Given the description of an element on the screen output the (x, y) to click on. 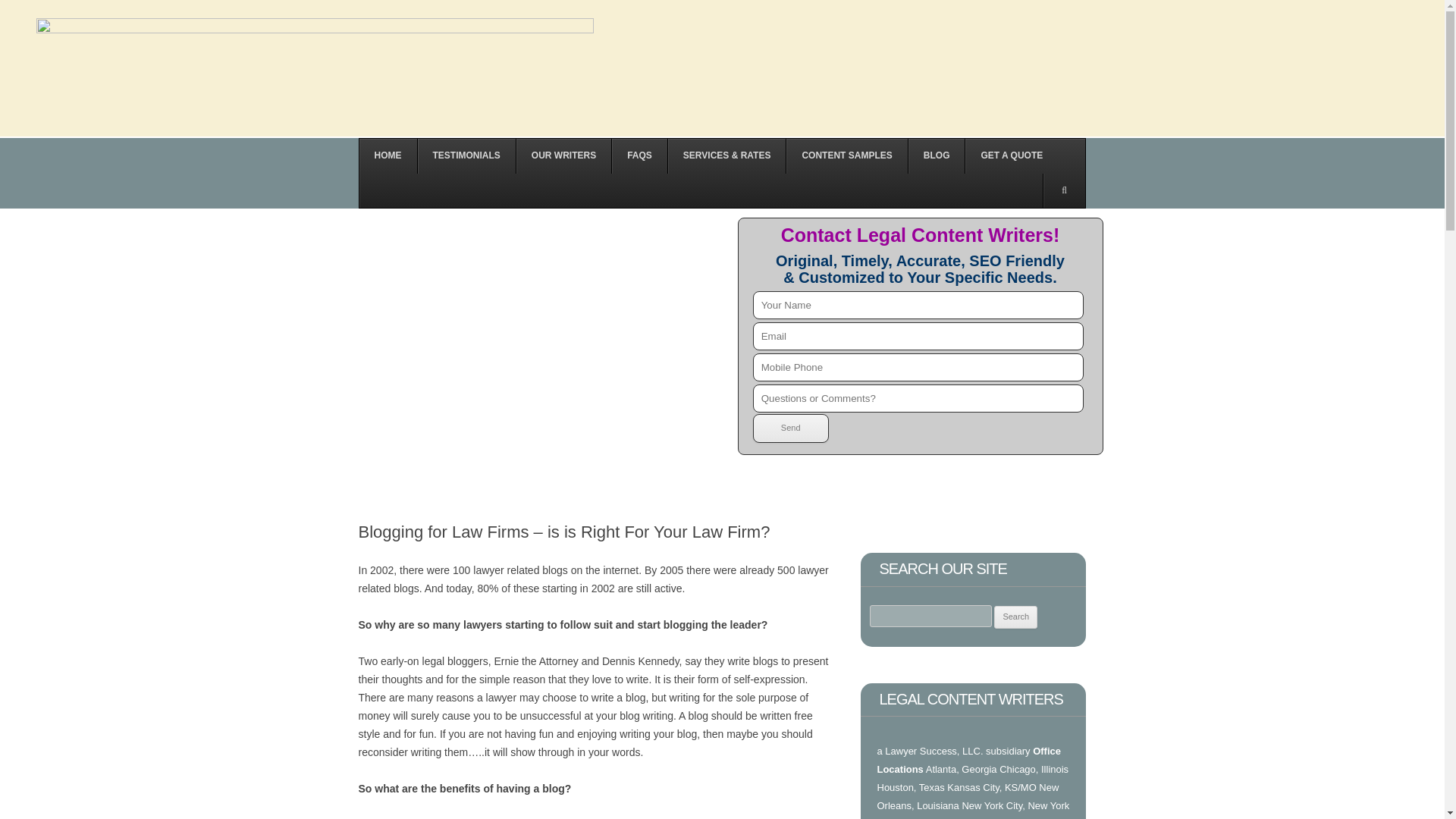
BLOG (936, 155)
Skip to content (393, 143)
Skip to content (393, 143)
Search (1015, 617)
Search (1015, 617)
CONTENT SAMPLES (846, 155)
FAQS (638, 155)
Send (790, 428)
HOME (387, 155)
OUR WRITERS (563, 155)
TESTIMONIALS (465, 155)
Send (790, 428)
GET A QUOTE (1010, 155)
